Given the description of an element on the screen output the (x, y) to click on. 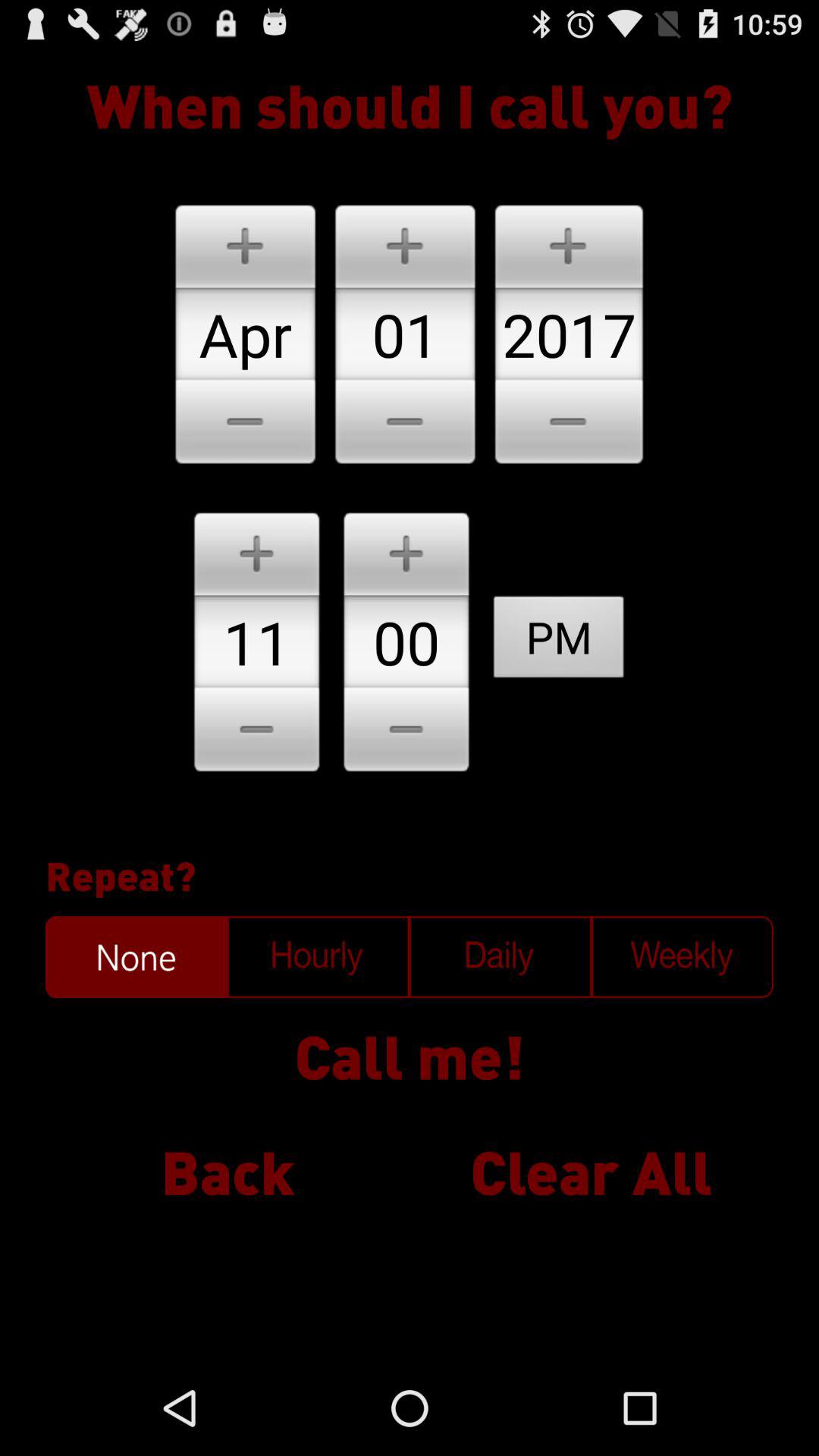
option for repeating (500, 957)
